Given the description of an element on the screen output the (x, y) to click on. 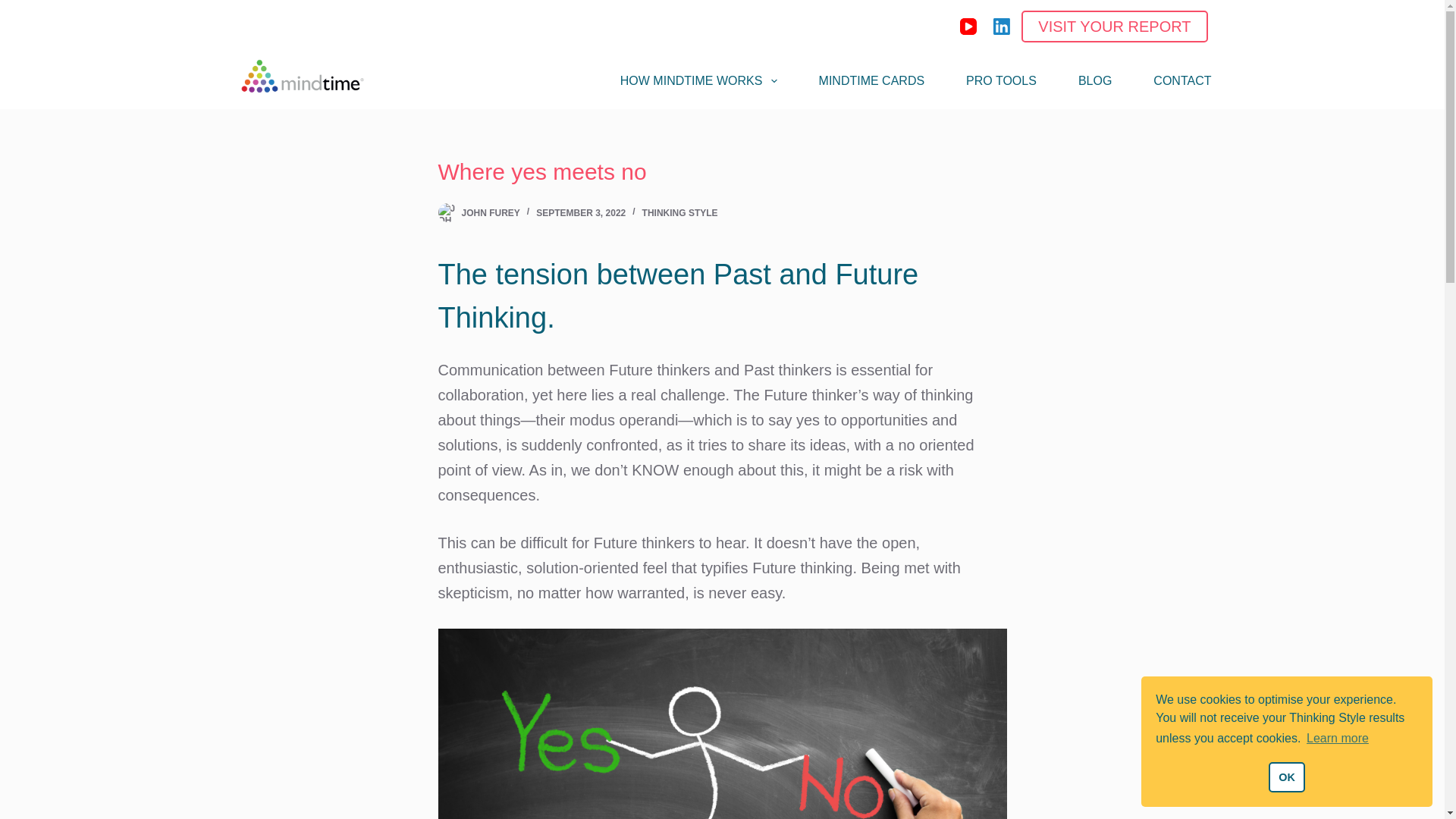
THINKING STYLE (679, 213)
Posts by John Furey (490, 213)
PRO TOOLS (1001, 80)
JOHN FUREY (490, 213)
BLOG (1094, 80)
MINDTIME CARDS (870, 80)
Where yes meets no (722, 171)
HOW MINDTIME WORKS (697, 80)
Skip to content (15, 7)
CONTACT (1171, 80)
VISIT YOUR REPORT (1114, 26)
